Given the description of an element on the screen output the (x, y) to click on. 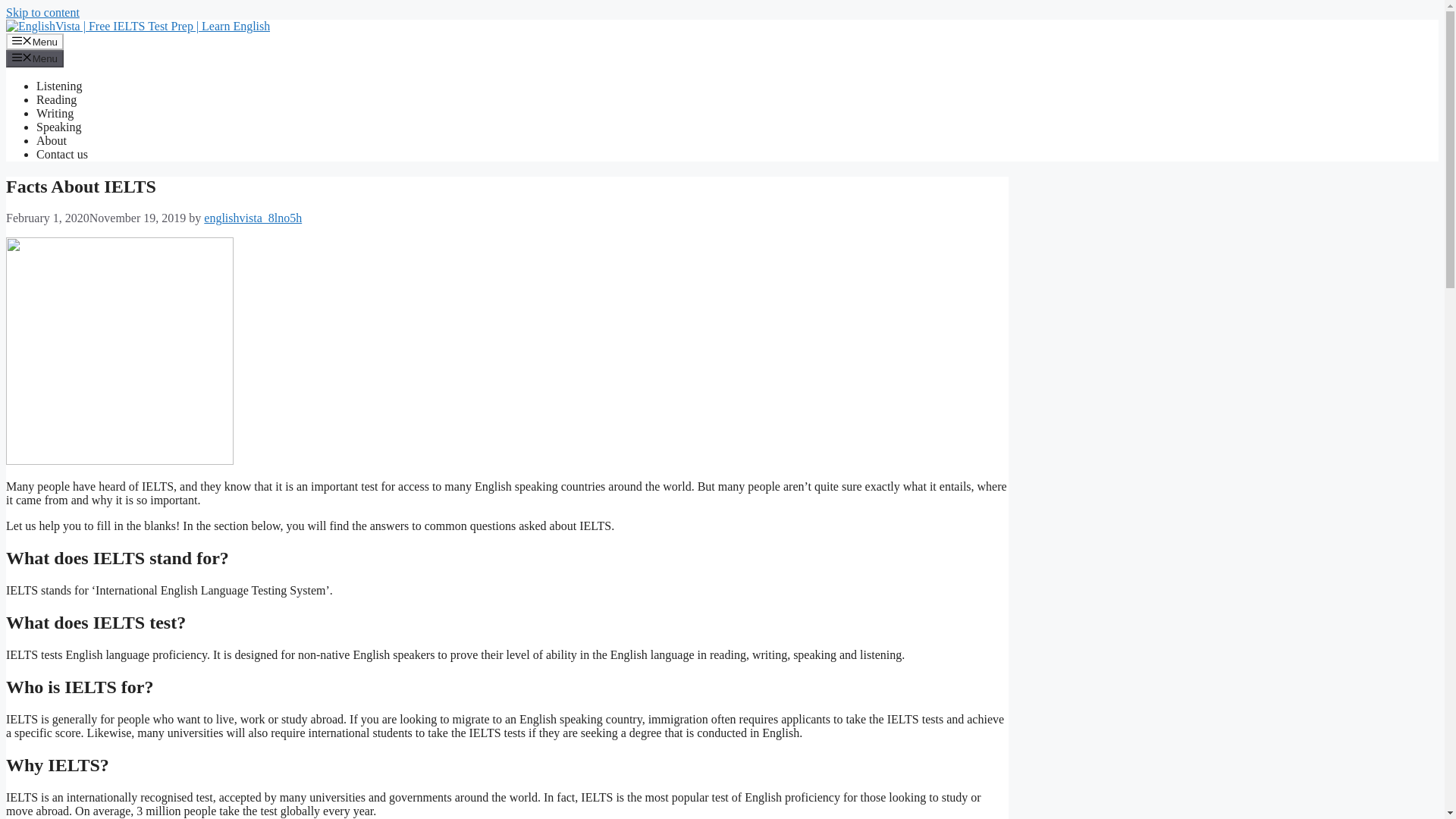
Writing (55, 113)
Speaking (58, 126)
Skip to content (42, 11)
Menu (34, 41)
About (51, 140)
Contact us (61, 154)
Skip to content (42, 11)
Menu (34, 57)
Listening (58, 85)
Reading (56, 99)
